Given the description of an element on the screen output the (x, y) to click on. 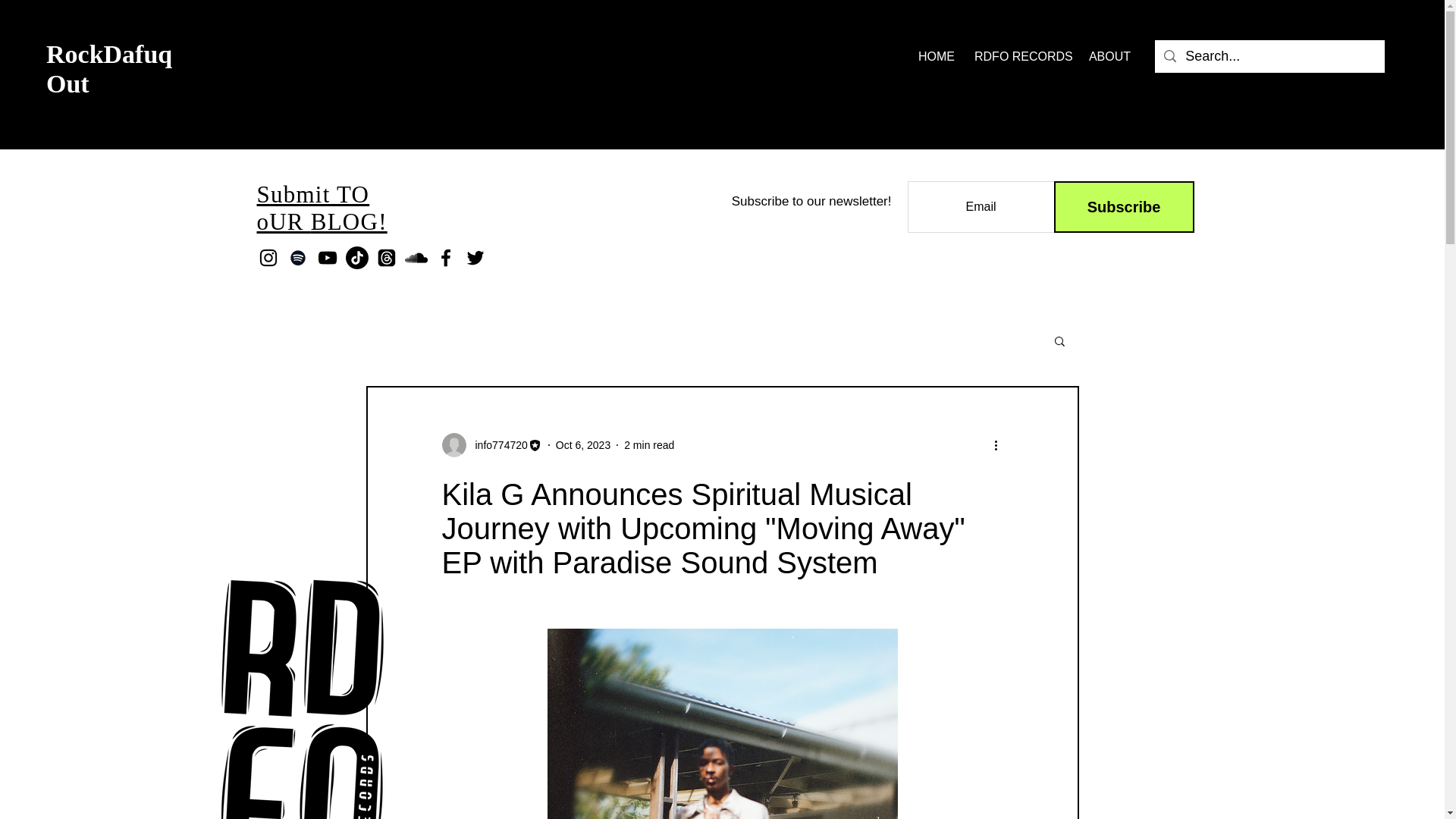
Submit TO oUR BLOG! (321, 207)
RDFO RECORDS (1019, 56)
ABOUT (1109, 56)
info774720 (496, 444)
2 min read (649, 444)
Oct 6, 2023 (583, 444)
Subscribe (1123, 206)
HOME (934, 56)
RockDafuqOut (108, 68)
